Given the description of an element on the screen output the (x, y) to click on. 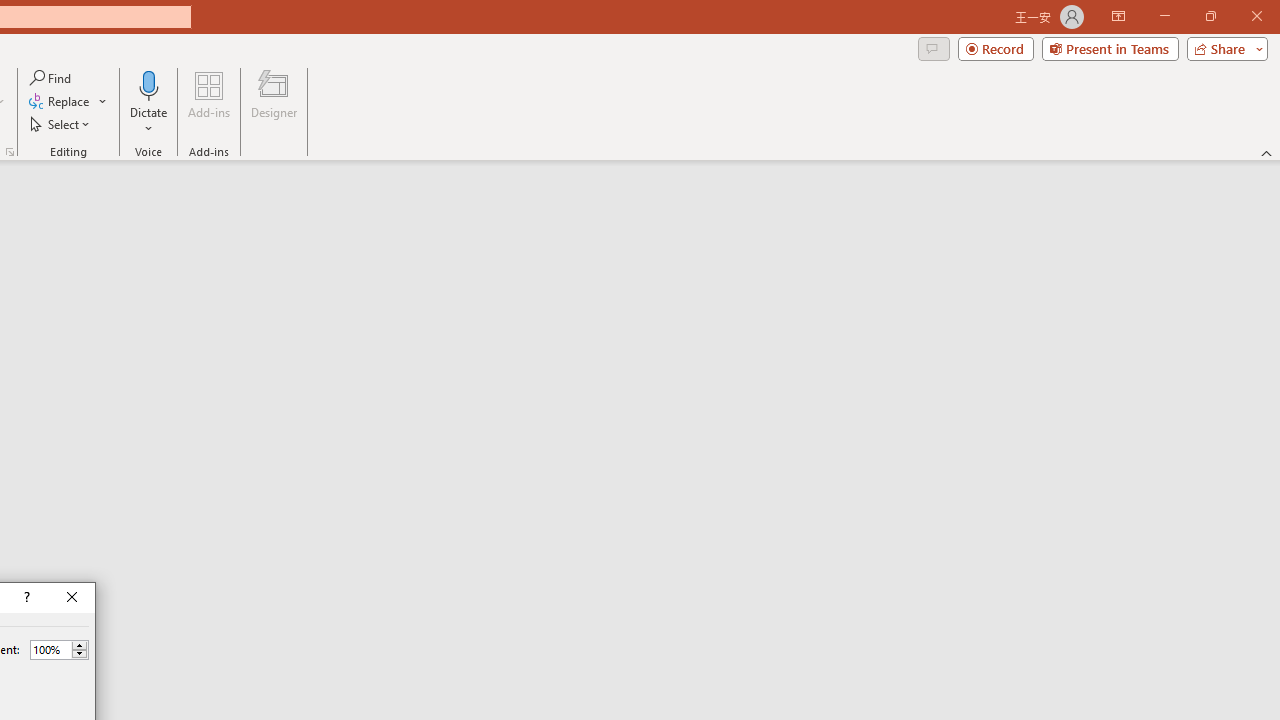
Percent (50, 649)
Percent (59, 650)
